Given the description of an element on the screen output the (x, y) to click on. 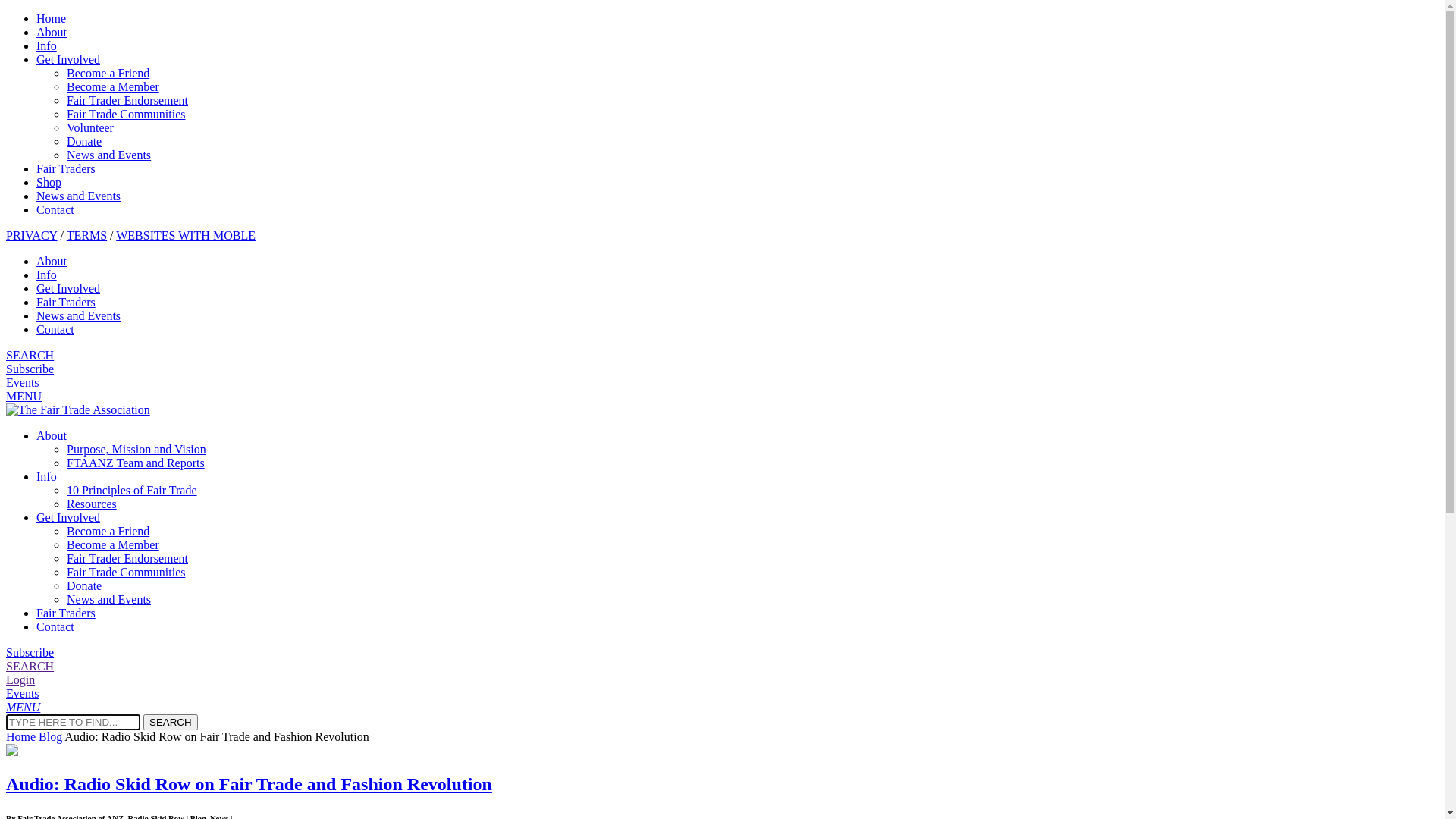
MENU Element type: text (23, 395)
SEARCH Element type: text (29, 354)
Get Involved Element type: text (68, 288)
About Element type: text (51, 31)
PRIVACY Element type: text (31, 235)
Fair Traders Element type: text (65, 301)
Shop Element type: text (48, 181)
Become a Member Element type: text (112, 544)
Donate Element type: text (83, 585)
Fair Trader Endorsement Element type: text (127, 558)
Donate Element type: text (83, 140)
WEBSITES WITH MOBLE Element type: text (185, 235)
Info Element type: text (46, 476)
News and Events Element type: text (78, 195)
Fair Trade Communities Element type: text (125, 113)
10 Principles of Fair Trade Element type: text (131, 489)
Volunteer Element type: text (89, 127)
SEARCH Element type: text (170, 722)
MENU Element type: text (23, 706)
Resources Element type: text (91, 503)
Fair Traders Element type: text (65, 168)
Fair Trade Communities Element type: text (125, 571)
About Element type: text (51, 260)
Events Element type: text (22, 693)
TERMS Element type: text (86, 235)
Become a Member Element type: text (112, 86)
SEARCH Element type: text (29, 665)
Become a Friend Element type: text (107, 72)
News and Events Element type: text (108, 599)
Blog Element type: text (50, 736)
Contact Element type: text (55, 626)
Purpose, Mission and Vision Element type: text (136, 448)
Fair Trader Endorsement Element type: text (127, 100)
News and Events Element type: text (108, 154)
Home Element type: text (50, 18)
Events Element type: text (22, 382)
News and Events Element type: text (78, 315)
Info Element type: text (46, 274)
Become a Friend Element type: text (107, 530)
Get Involved Element type: text (68, 517)
Get Involved Element type: text (68, 59)
Subscribe Element type: text (29, 652)
Login Element type: text (20, 679)
Fair Traders Element type: text (65, 612)
Info Element type: text (46, 45)
Contact Element type: text (55, 209)
FTAANZ Team and Reports Element type: text (135, 462)
Contact Element type: text (55, 329)
Home Element type: text (20, 736)
About Element type: text (51, 435)
Subscribe Element type: text (29, 368)
